Given the description of an element on the screen output the (x, y) to click on. 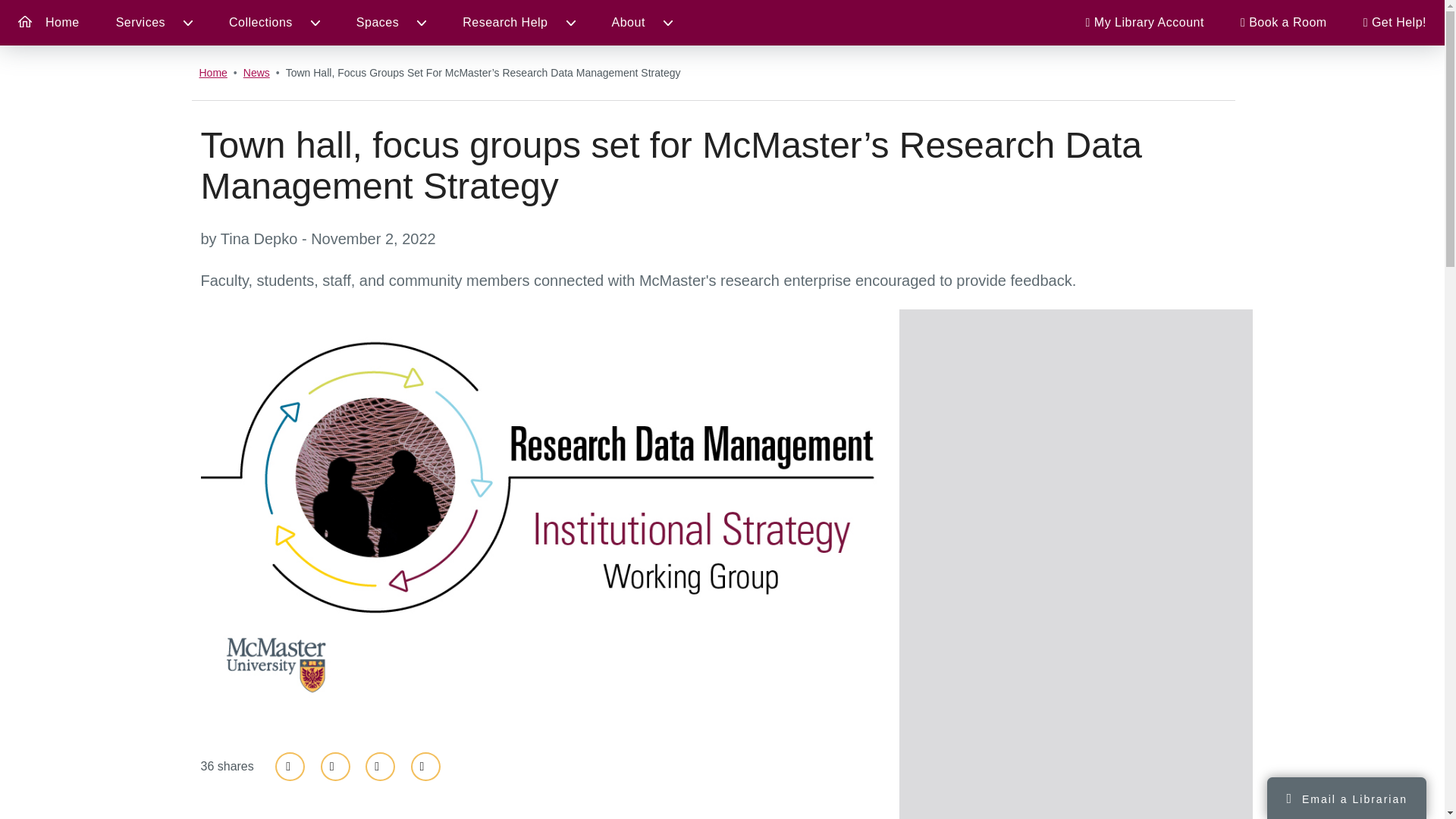
Home (48, 22)
Collections (274, 22)
Research Help (518, 22)
About (642, 22)
Spaces (390, 22)
Services (154, 22)
